Given the description of an element on the screen output the (x, y) to click on. 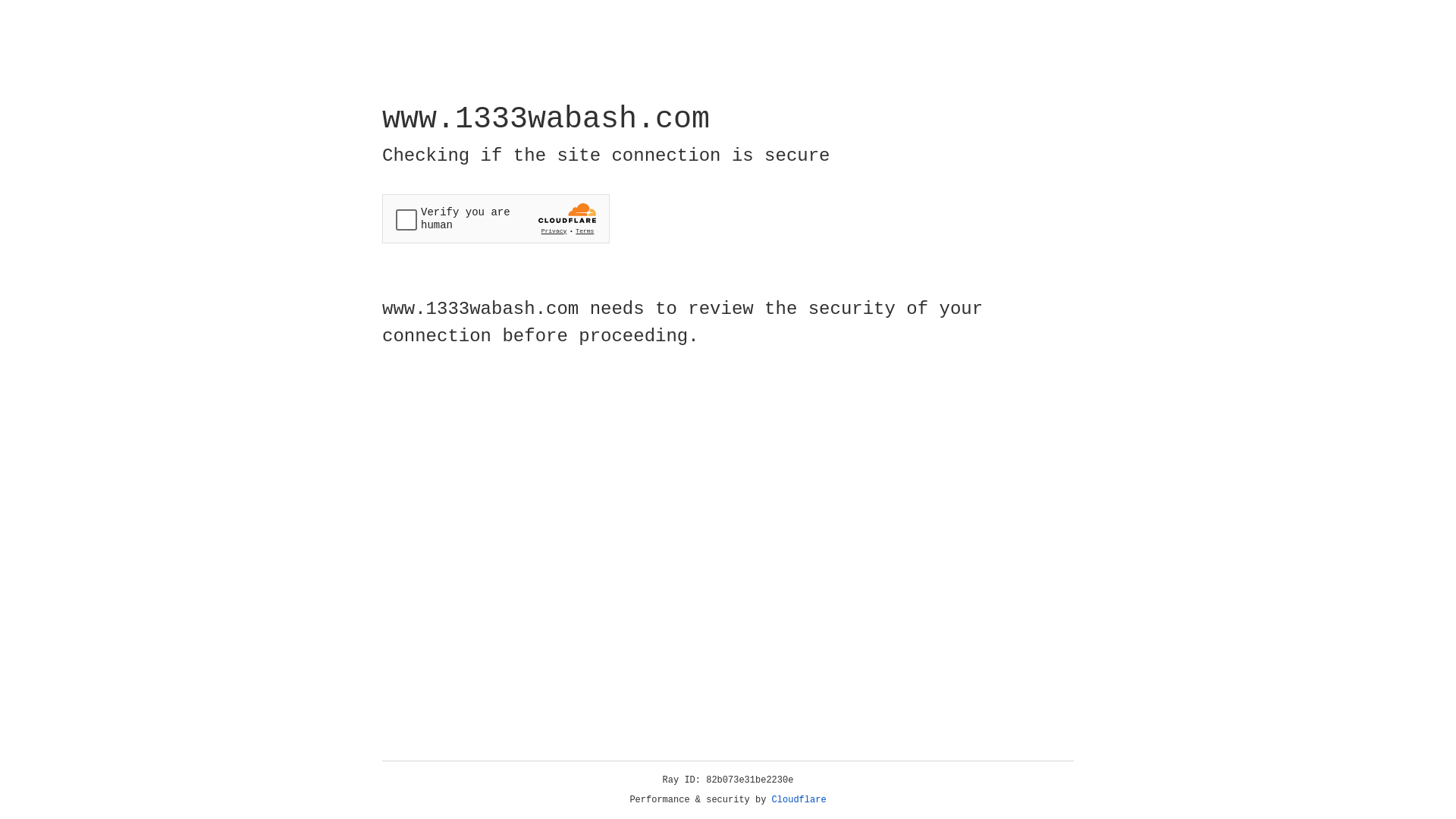
Cloudflare Element type: text (798, 799)
Widget containing a Cloudflare security challenge Element type: hover (495, 218)
